Given the description of an element on the screen output the (x, y) to click on. 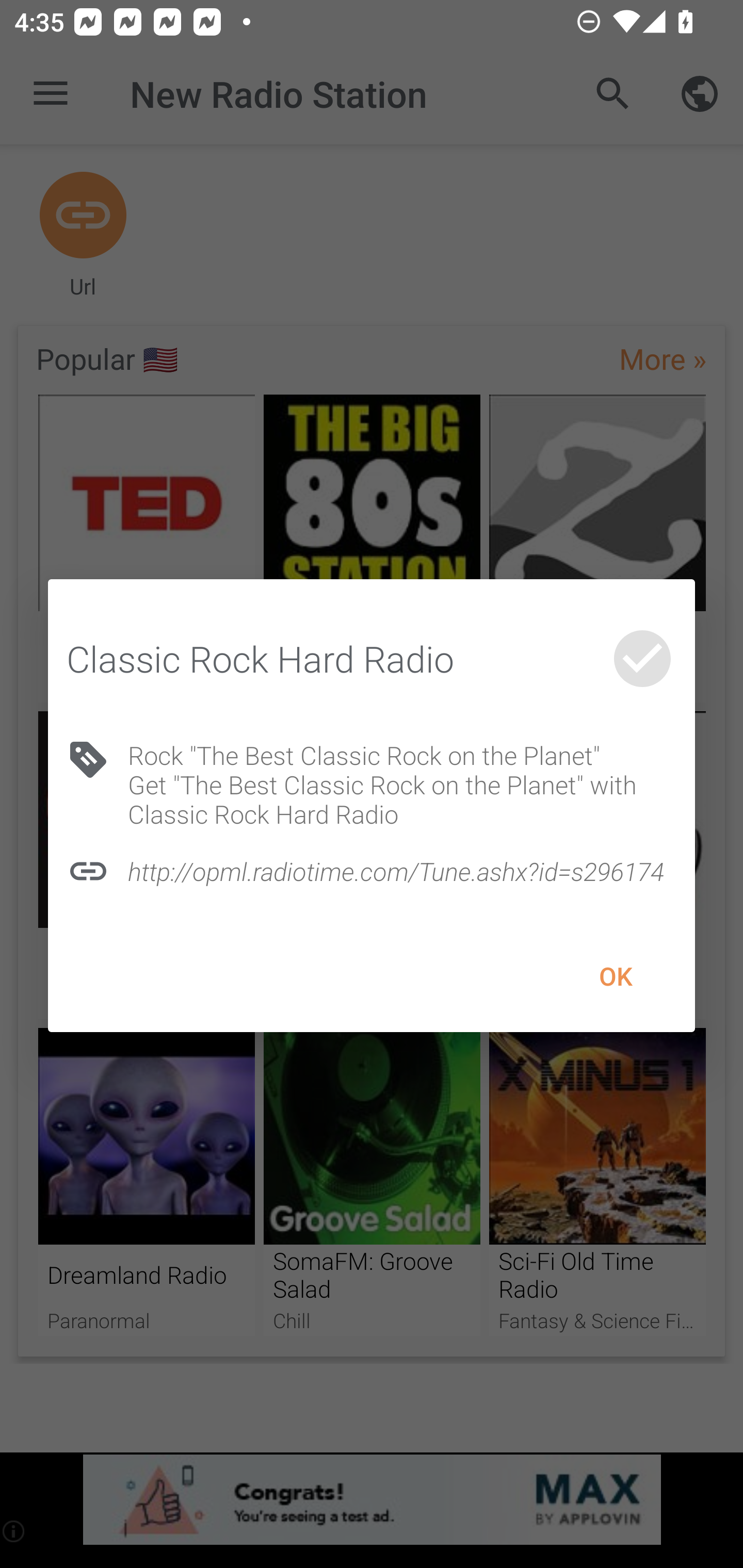
Add Classic Rock Hard Radio (641, 658)
OK (615, 975)
